Given the description of an element on the screen output the (x, y) to click on. 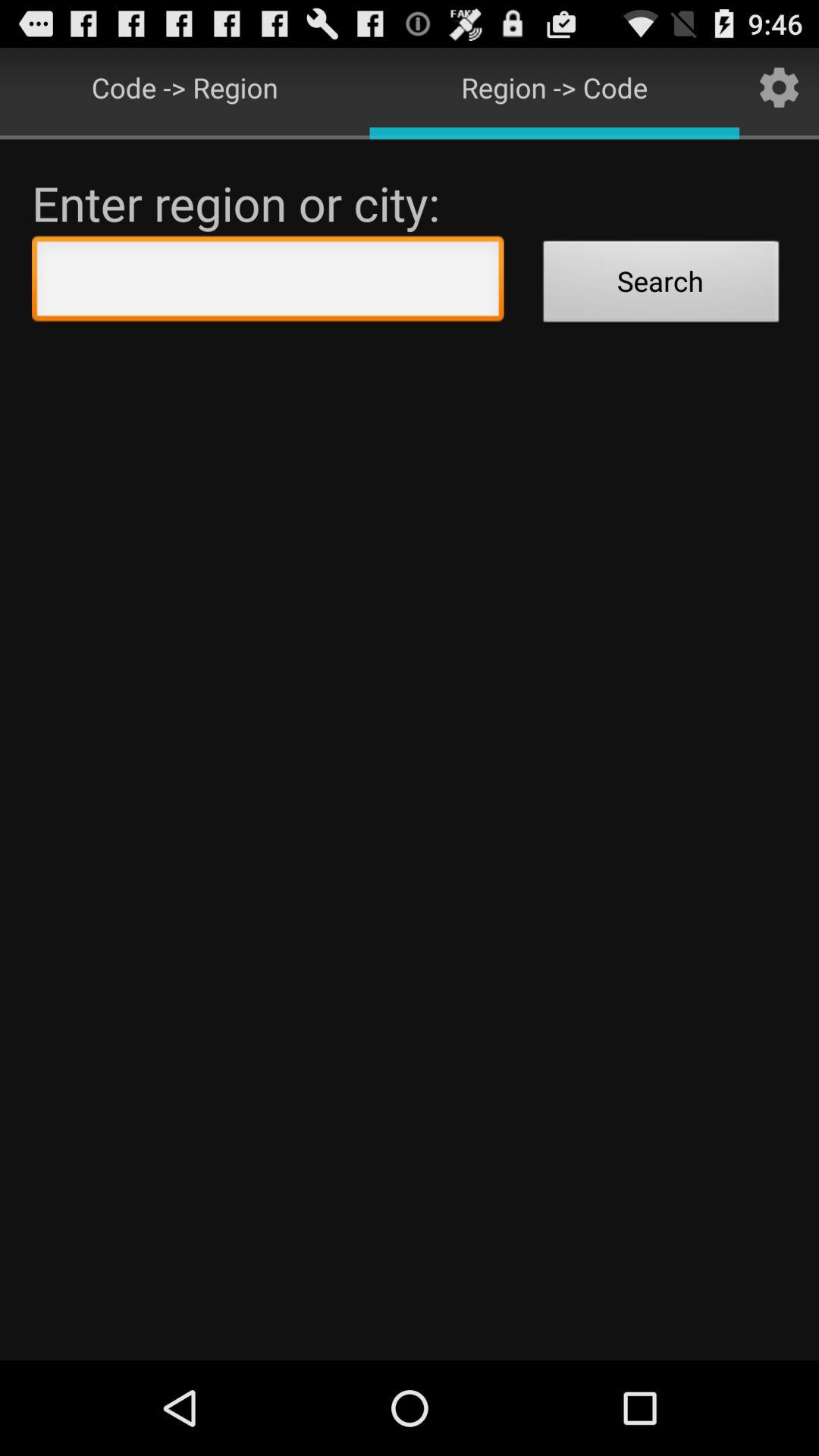
choose the icon next to the search (267, 282)
